Given the description of an element on the screen output the (x, y) to click on. 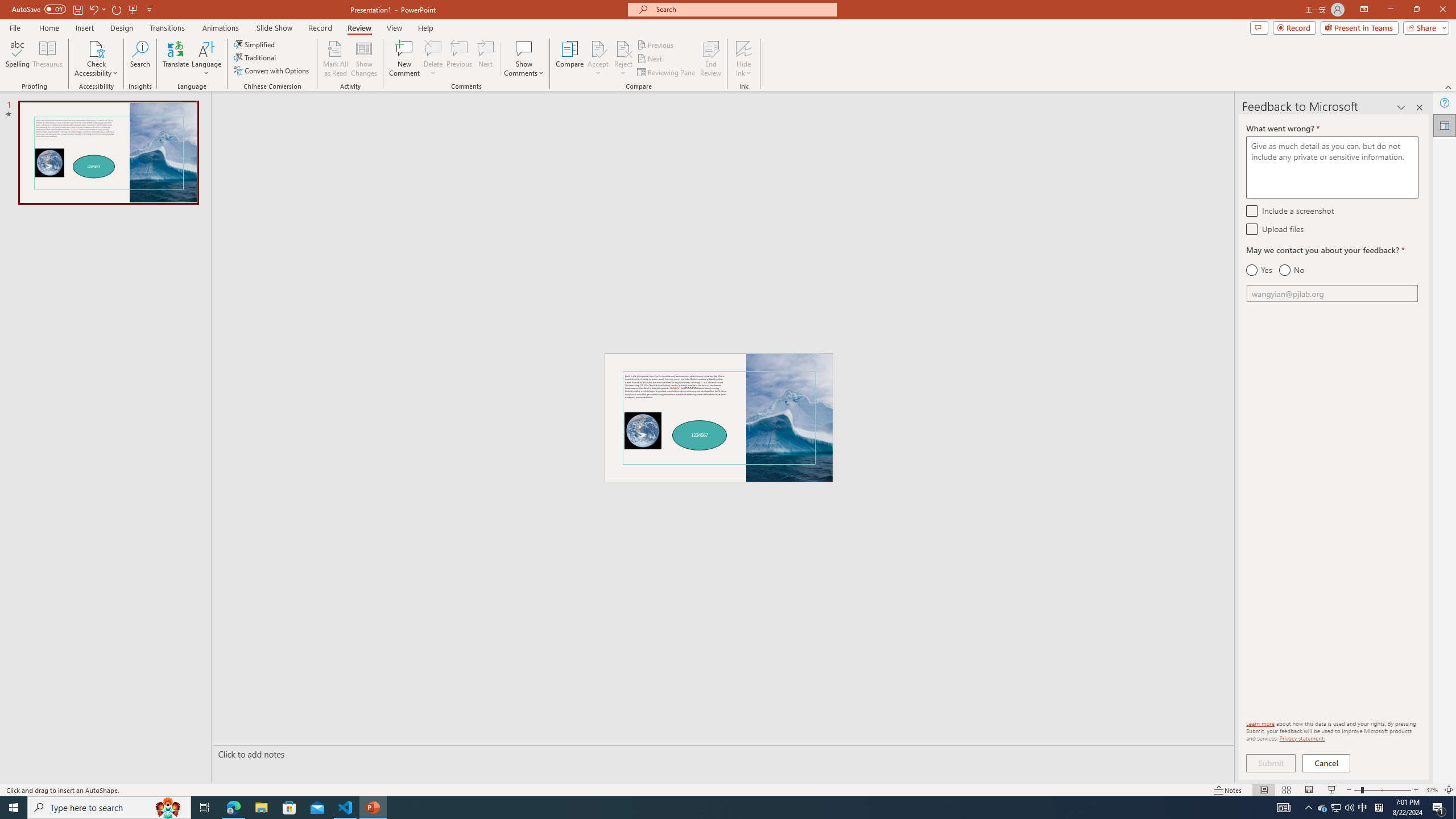
Minimize (1390, 9)
Customize Quick Access Toolbar (149, 9)
From Beginning (133, 9)
Show Comments (524, 58)
Notes  (1227, 790)
Submit (1270, 763)
AutoSave (38, 9)
Reject Change (622, 48)
Include a screenshot (1251, 210)
Reviewing Pane (666, 72)
Mark All as Read (335, 58)
Feedback to Microsoft (1444, 125)
Language (206, 58)
Restore Down (1416, 9)
